Given the description of an element on the screen output the (x, y) to click on. 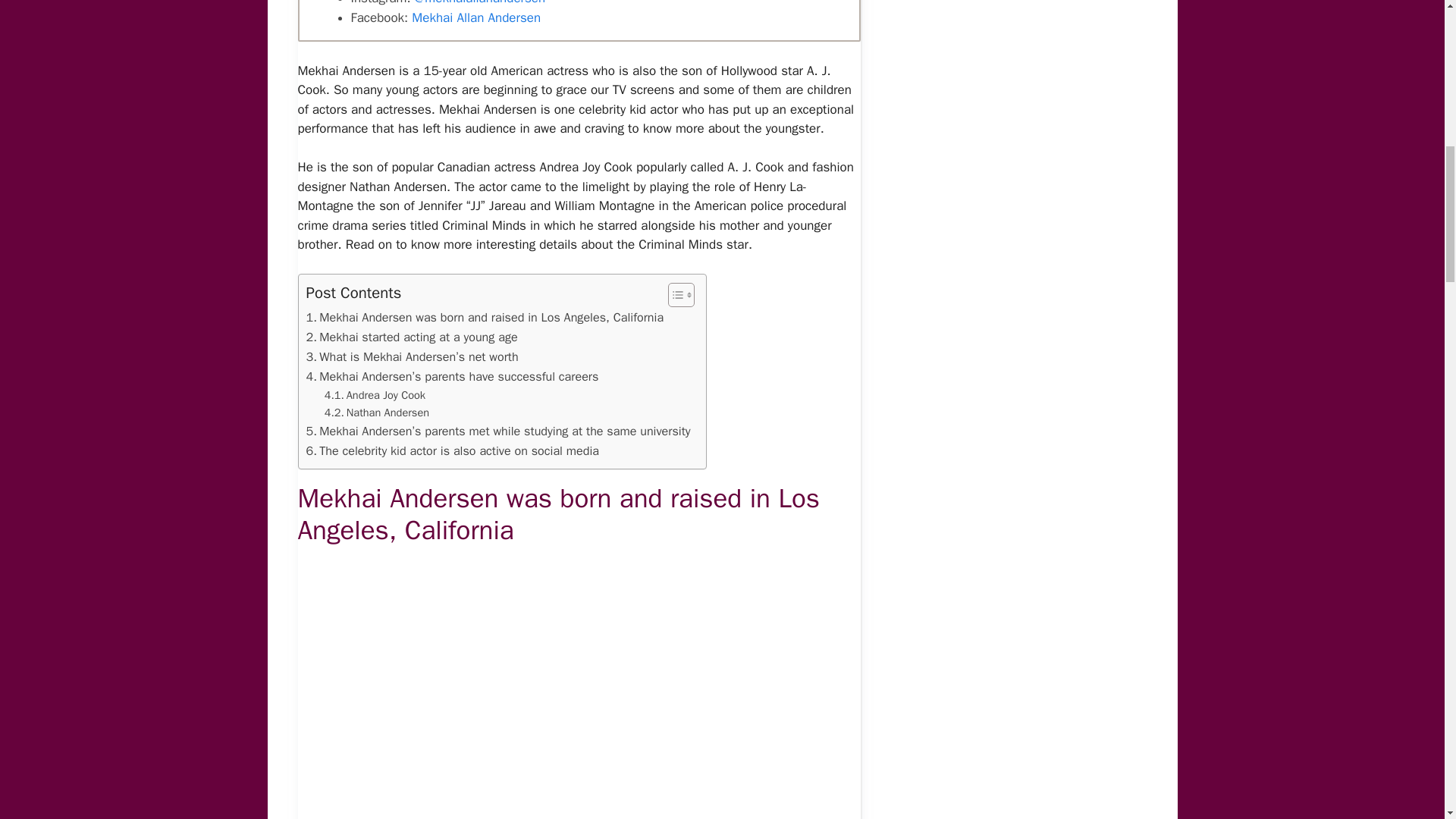
Andrea Joy Cook (374, 395)
The celebrity kid actor is also active on social media (452, 451)
Nathan Andersen (376, 412)
Nathan Andersen (376, 412)
The celebrity kid actor is also active on social media (452, 451)
Andrea Joy Cook (374, 395)
Mekhai started acting at a young age (411, 337)
Mekhai Allan Andersen (476, 17)
